Given the description of an element on the screen output the (x, y) to click on. 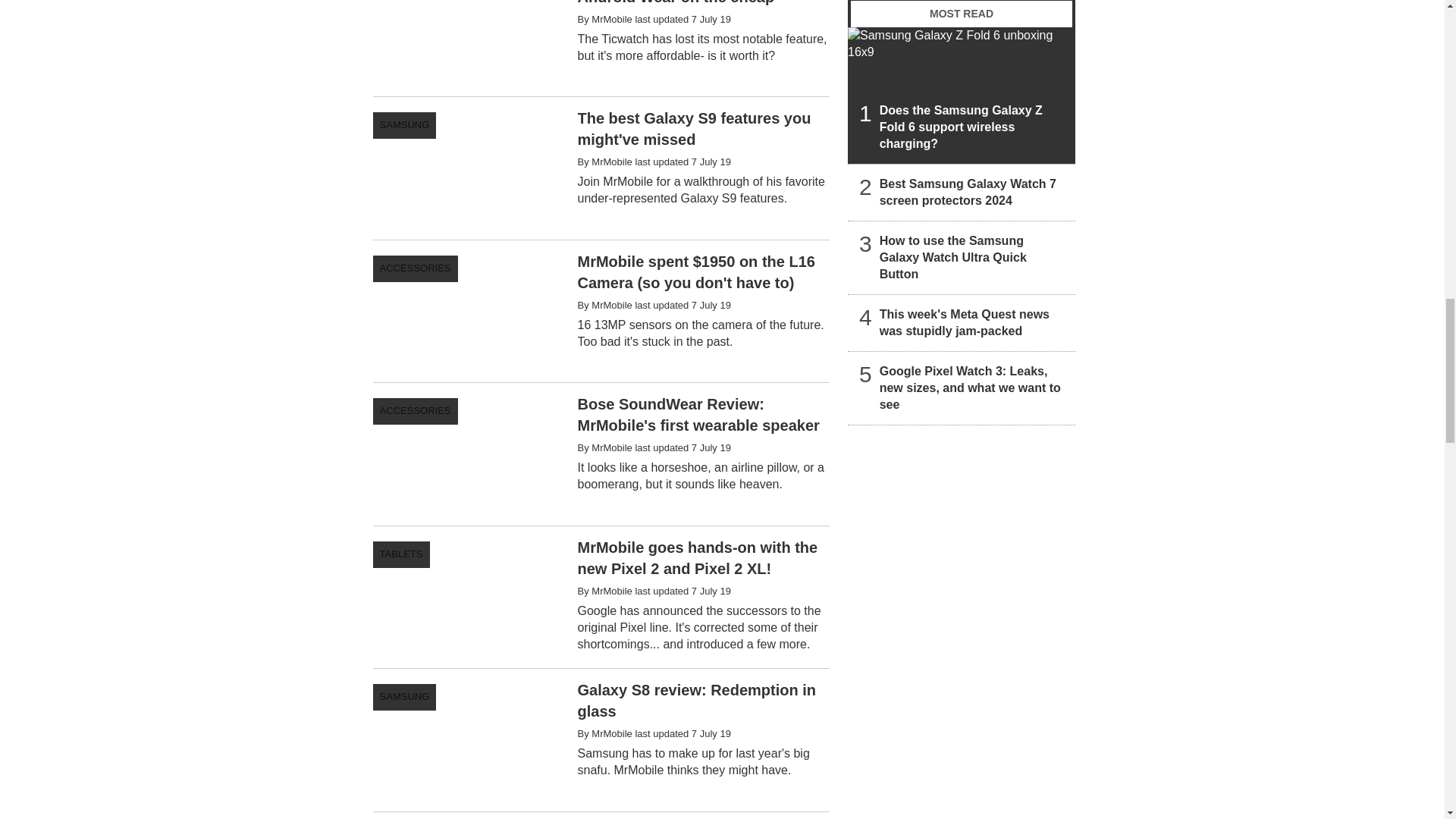
Does the Samsung Galaxy Z Fold 6 support wireless charging? (961, 95)
